Given the description of an element on the screen output the (x, y) to click on. 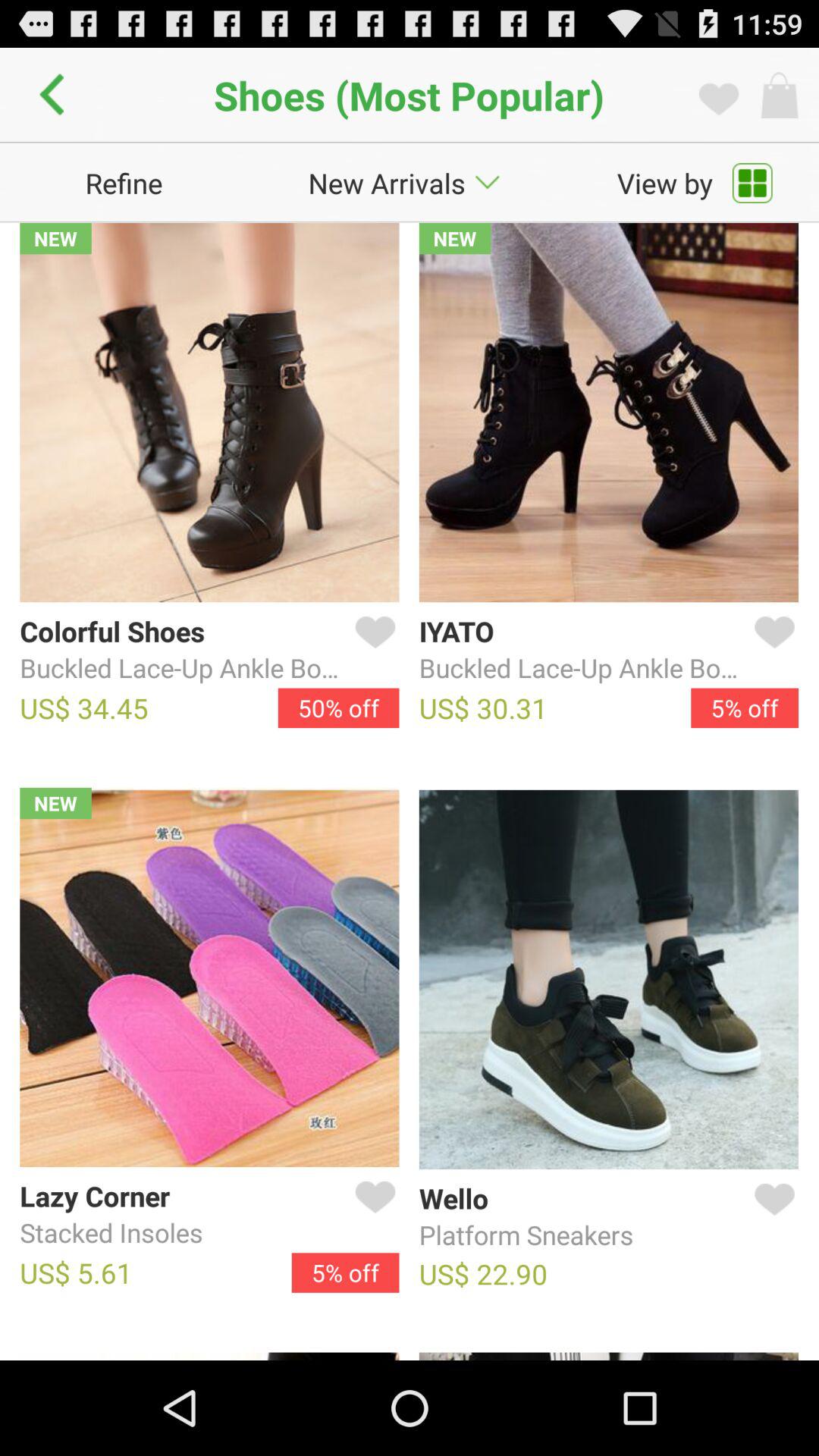
add to favorites (372, 1214)
